Given the description of an element on the screen output the (x, y) to click on. 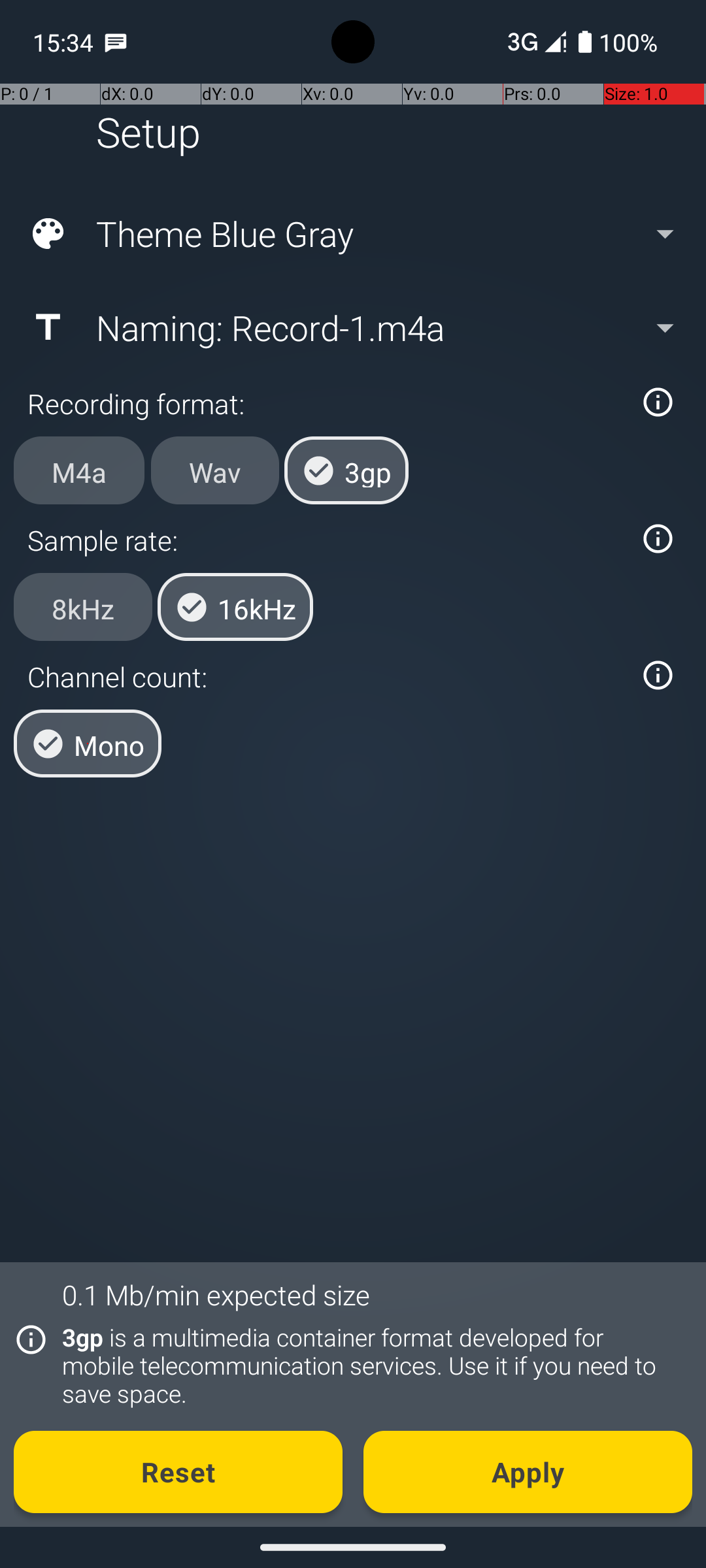
0.1 Mb/min expected size Element type: android.widget.TextView (215, 1294)
3gp is a multimedia container format developed for mobile telecommunication services. Use it if you need to save space. Element type: android.widget.TextView (370, 1364)
